Given the description of an element on the screen output the (x, y) to click on. 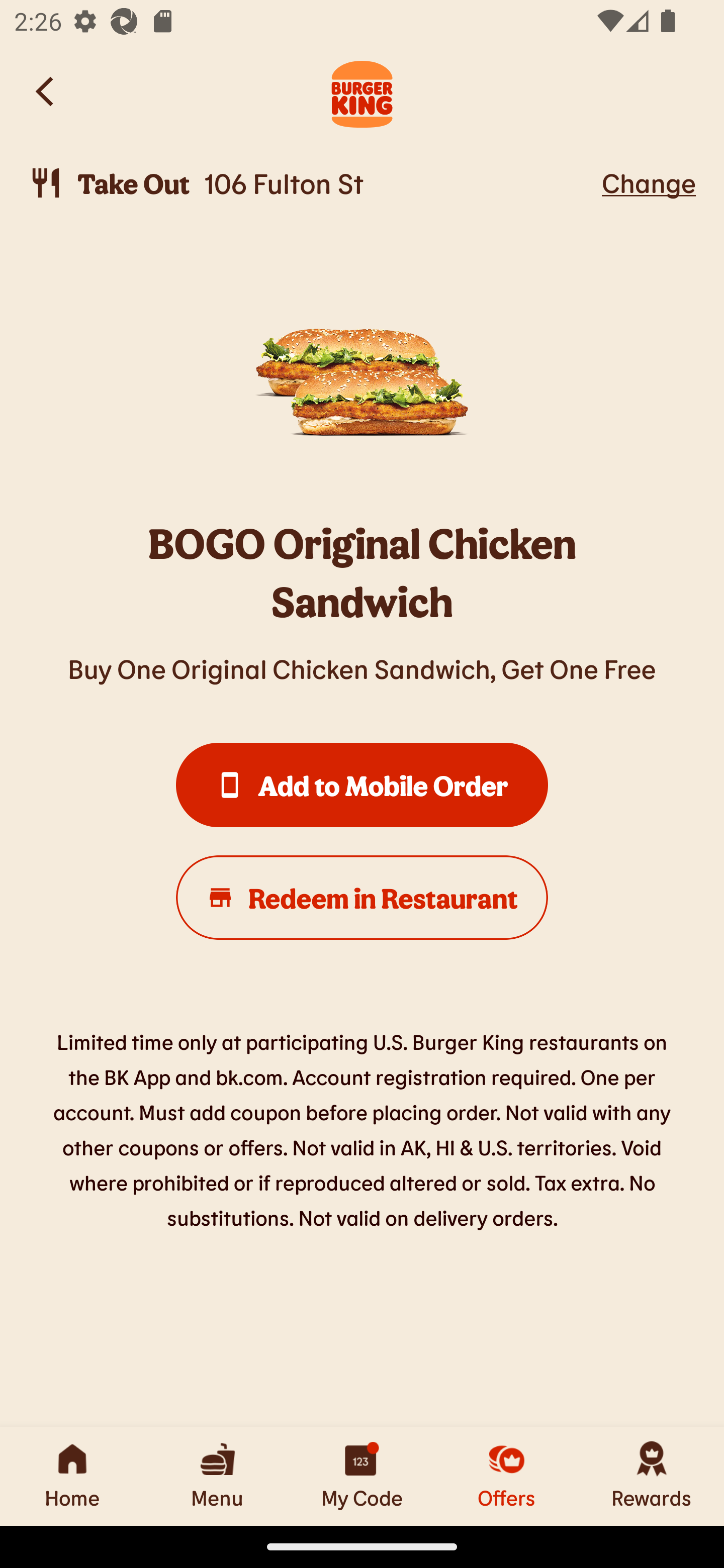
Burger King Logo. Navigate to Home (362, 91)
Back (45, 91)
Take Out, 106 Fulton St  Take Out 106 Fulton St (311, 183)
Change (648, 182)
Add to Mobile Order (361, 785)
Redeem in Restaurant  Redeem in Restaurant (361, 897)
Home (72, 1475)
Menu (216, 1475)
My Code (361, 1475)
Offers (506, 1475)
Rewards (651, 1475)
